Given the description of an element on the screen output the (x, y) to click on. 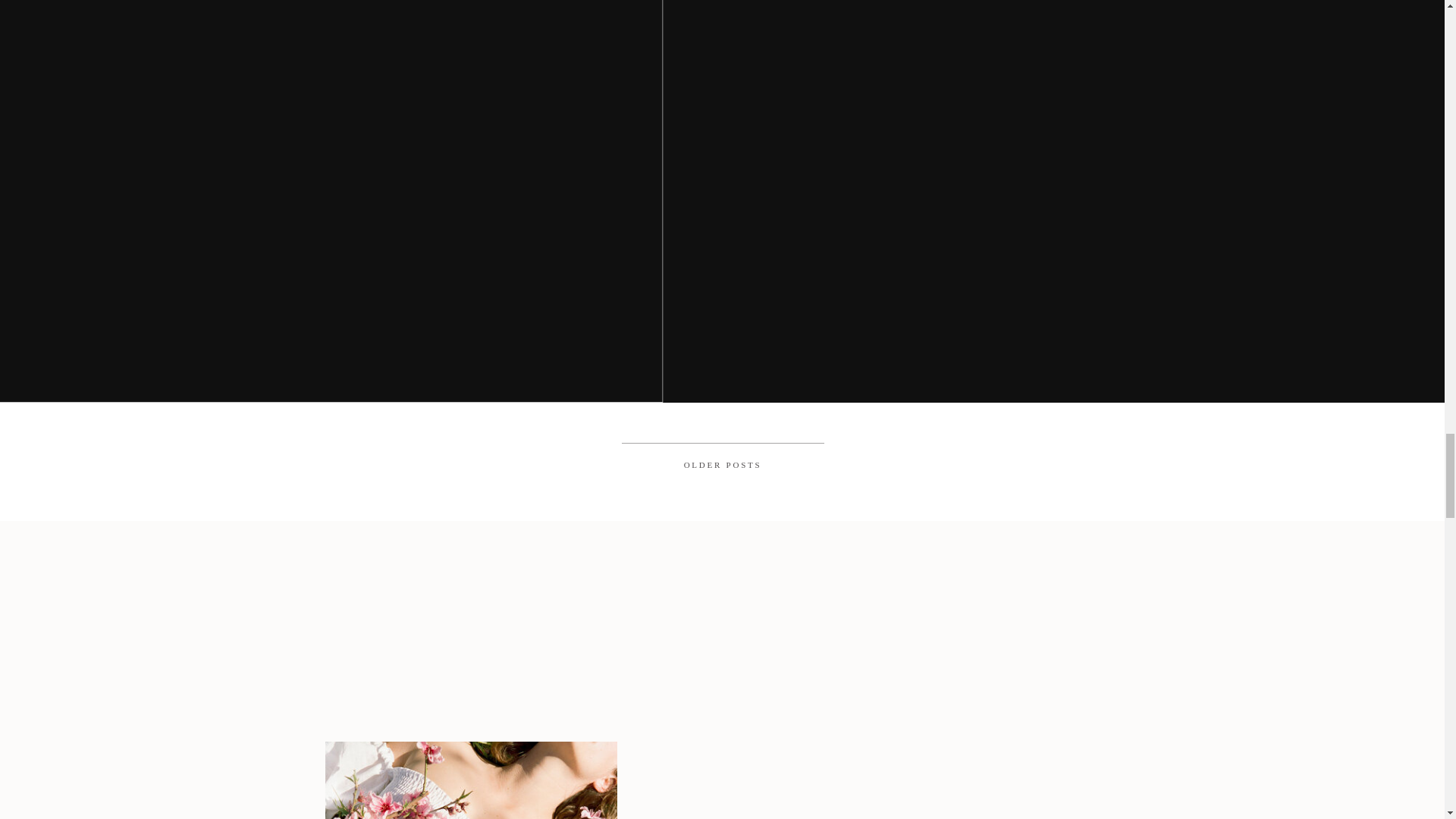
OLDER POSTS (722, 464)
